Given the description of an element on the screen output the (x, y) to click on. 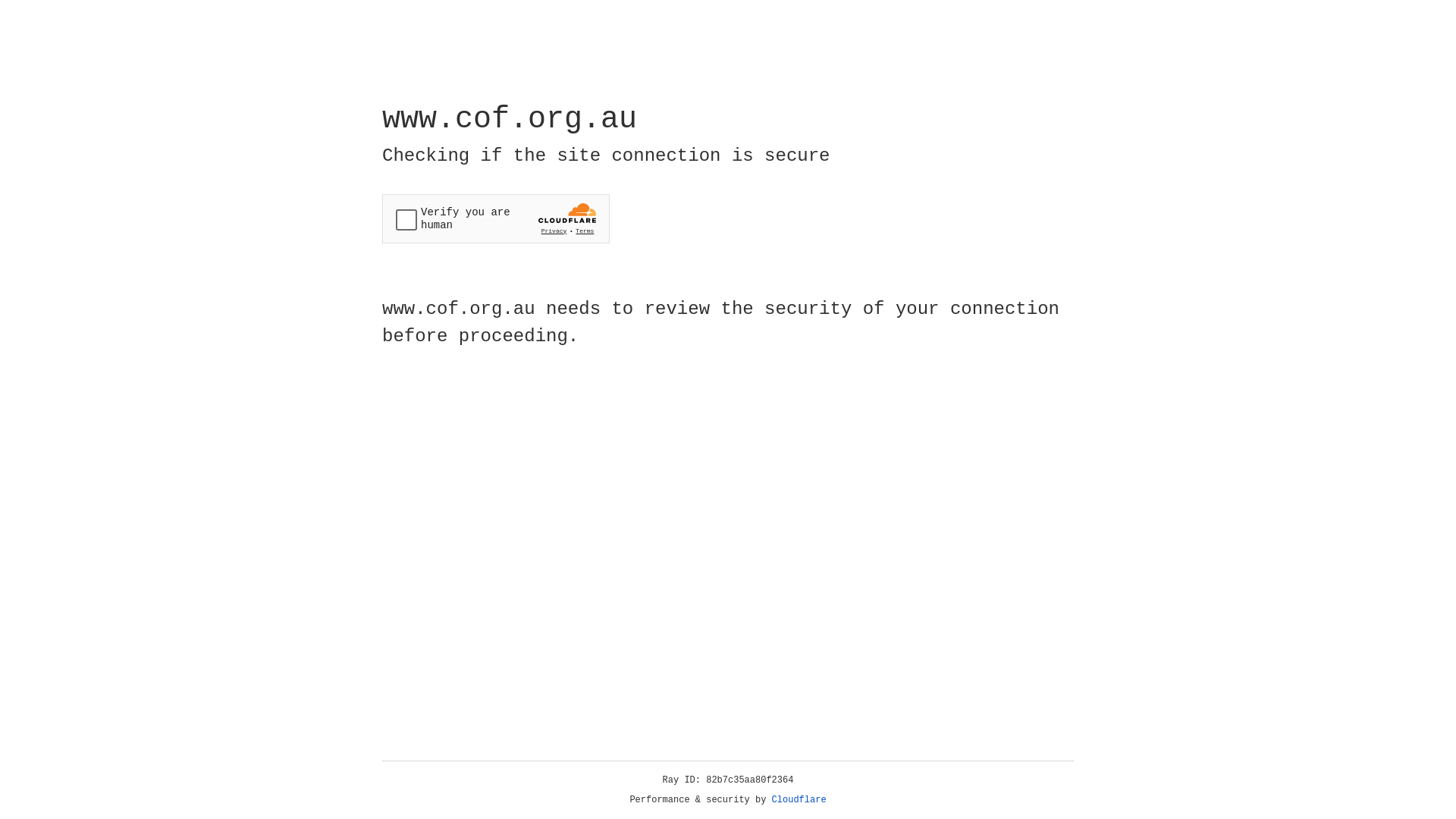
Widget containing a Cloudflare security challenge Element type: hover (495, 218)
Cloudflare Element type: text (798, 799)
